Given the description of an element on the screen output the (x, y) to click on. 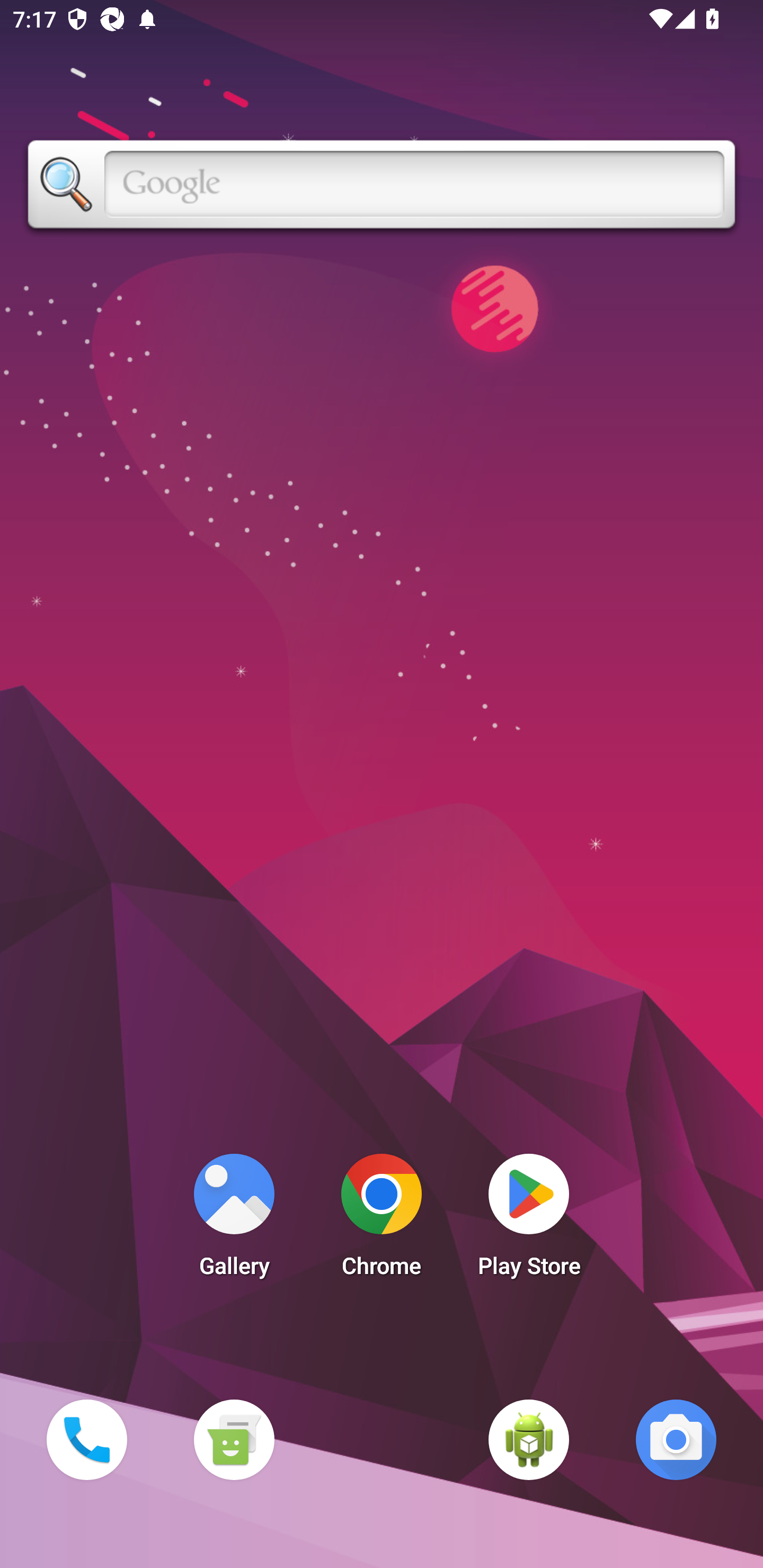
Gallery (233, 1220)
Chrome (381, 1220)
Play Store (528, 1220)
Phone (86, 1439)
Messaging (233, 1439)
WebView Browser Tester (528, 1439)
Camera (676, 1439)
